Given the description of an element on the screen output the (x, y) to click on. 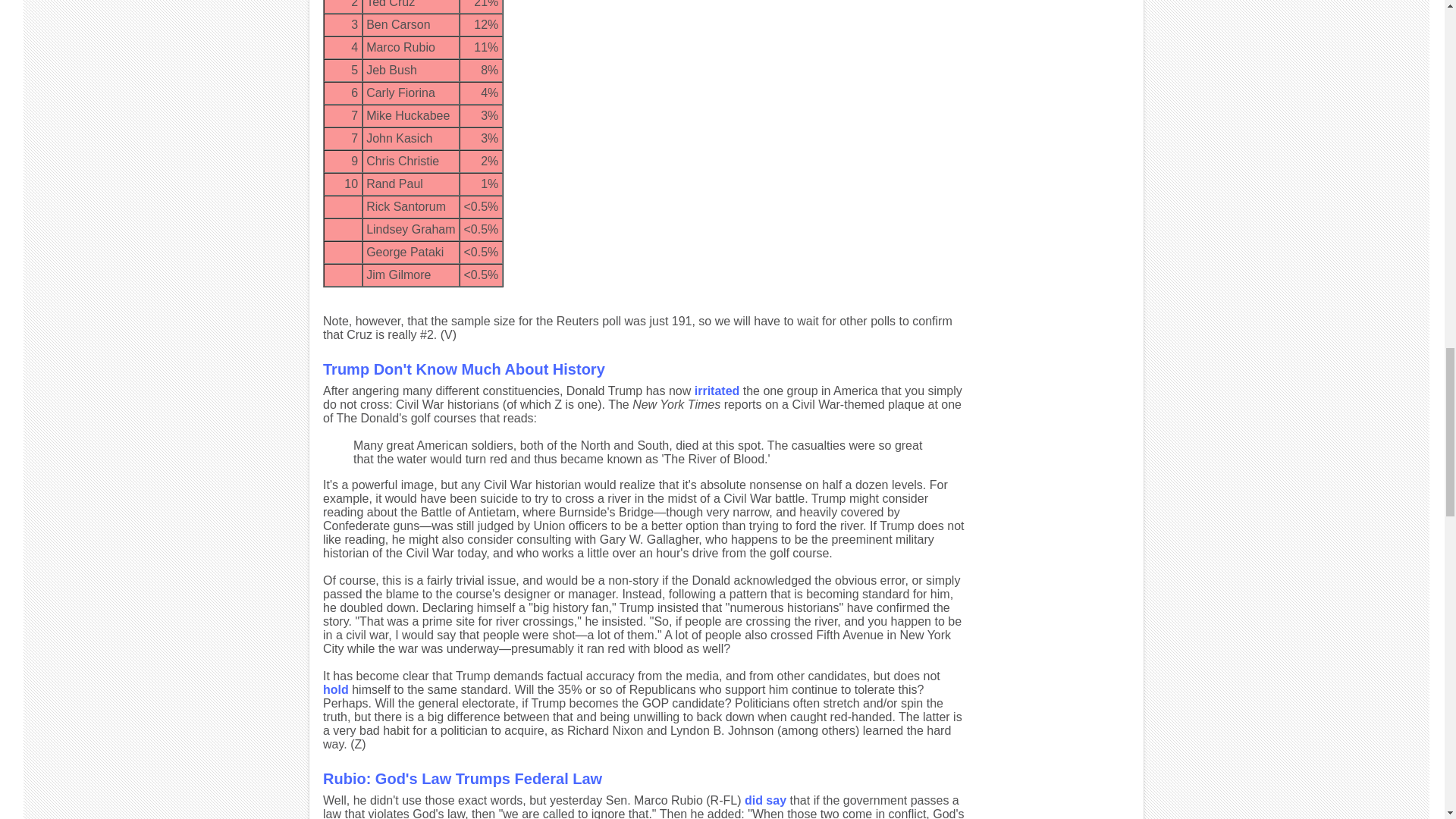
Rubio: God's Law Trumps Federal Law (462, 778)
Trump Don't Know Much About History (464, 369)
did say (765, 799)
irritated (716, 390)
hold (336, 689)
